Given the description of an element on the screen output the (x, y) to click on. 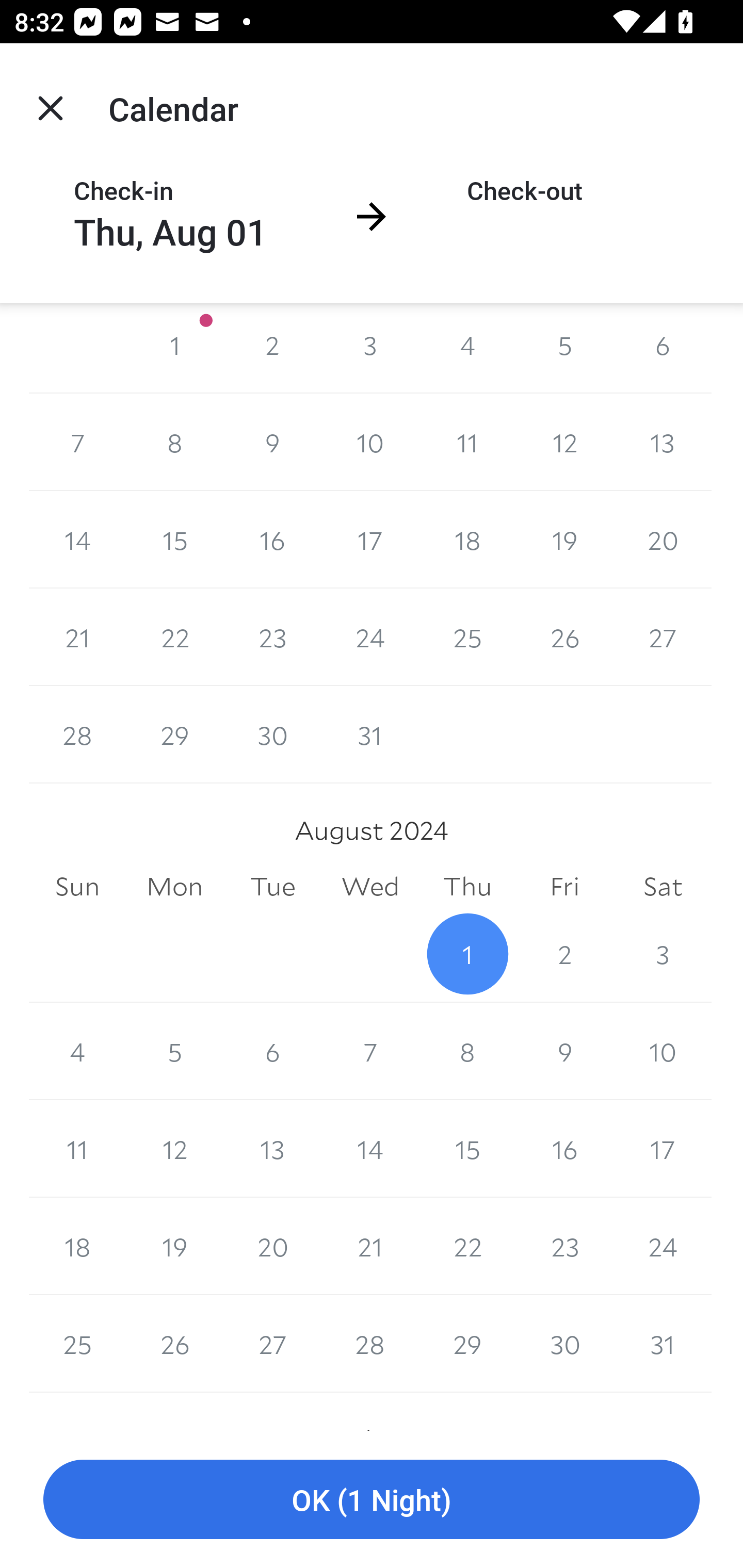
1 1 July 2024 (174, 347)
2 2 July 2024 (272, 347)
3 3 July 2024 (370, 347)
4 4 July 2024 (467, 347)
5 5 July 2024 (564, 347)
6 6 July 2024 (662, 347)
7 7 July 2024 (77, 441)
8 8 July 2024 (174, 441)
9 9 July 2024 (272, 441)
10 10 July 2024 (370, 441)
11 11 July 2024 (467, 441)
12 12 July 2024 (564, 441)
13 13 July 2024 (662, 441)
14 14 July 2024 (77, 539)
15 15 July 2024 (174, 539)
16 16 July 2024 (272, 539)
17 17 July 2024 (370, 539)
18 18 July 2024 (467, 539)
19 19 July 2024 (564, 539)
20 20 July 2024 (662, 539)
21 21 July 2024 (77, 637)
22 22 July 2024 (174, 637)
23 23 July 2024 (272, 637)
24 24 July 2024 (370, 637)
25 25 July 2024 (467, 637)
26 26 July 2024 (564, 637)
27 27 July 2024 (662, 637)
28 28 July 2024 (77, 735)
29 29 July 2024 (174, 735)
30 30 July 2024 (272, 735)
31 31 July 2024 (370, 735)
Sun (77, 886)
Mon (174, 886)
Tue (272, 886)
Wed (370, 886)
Thu (467, 886)
Fri (564, 886)
Sat (662, 886)
1 1 August 2024 (467, 952)
2 2 August 2024 (564, 952)
3 3 August 2024 (662, 952)
4 4 August 2024 (77, 1050)
5 5 August 2024 (174, 1050)
6 6 August 2024 (272, 1050)
7 7 August 2024 (370, 1050)
8 8 August 2024 (467, 1050)
9 9 August 2024 (564, 1050)
10 10 August 2024 (662, 1050)
11 11 August 2024 (77, 1148)
12 12 August 2024 (174, 1148)
13 13 August 2024 (272, 1148)
14 14 August 2024 (370, 1148)
15 15 August 2024 (467, 1148)
16 16 August 2024 (564, 1148)
17 17 August 2024 (662, 1148)
18 18 August 2024 (77, 1246)
19 19 August 2024 (174, 1246)
20 20 August 2024 (272, 1246)
21 21 August 2024 (370, 1246)
22 22 August 2024 (467, 1246)
23 23 August 2024 (564, 1246)
24 24 August 2024 (662, 1246)
25 25 August 2024 (77, 1343)
26 26 August 2024 (174, 1343)
27 27 August 2024 (272, 1343)
28 28 August 2024 (370, 1343)
29 29 August 2024 (467, 1343)
30 30 August 2024 (564, 1343)
31 31 August 2024 (662, 1343)
OK (1 Night) (371, 1499)
